Given the description of an element on the screen output the (x, y) to click on. 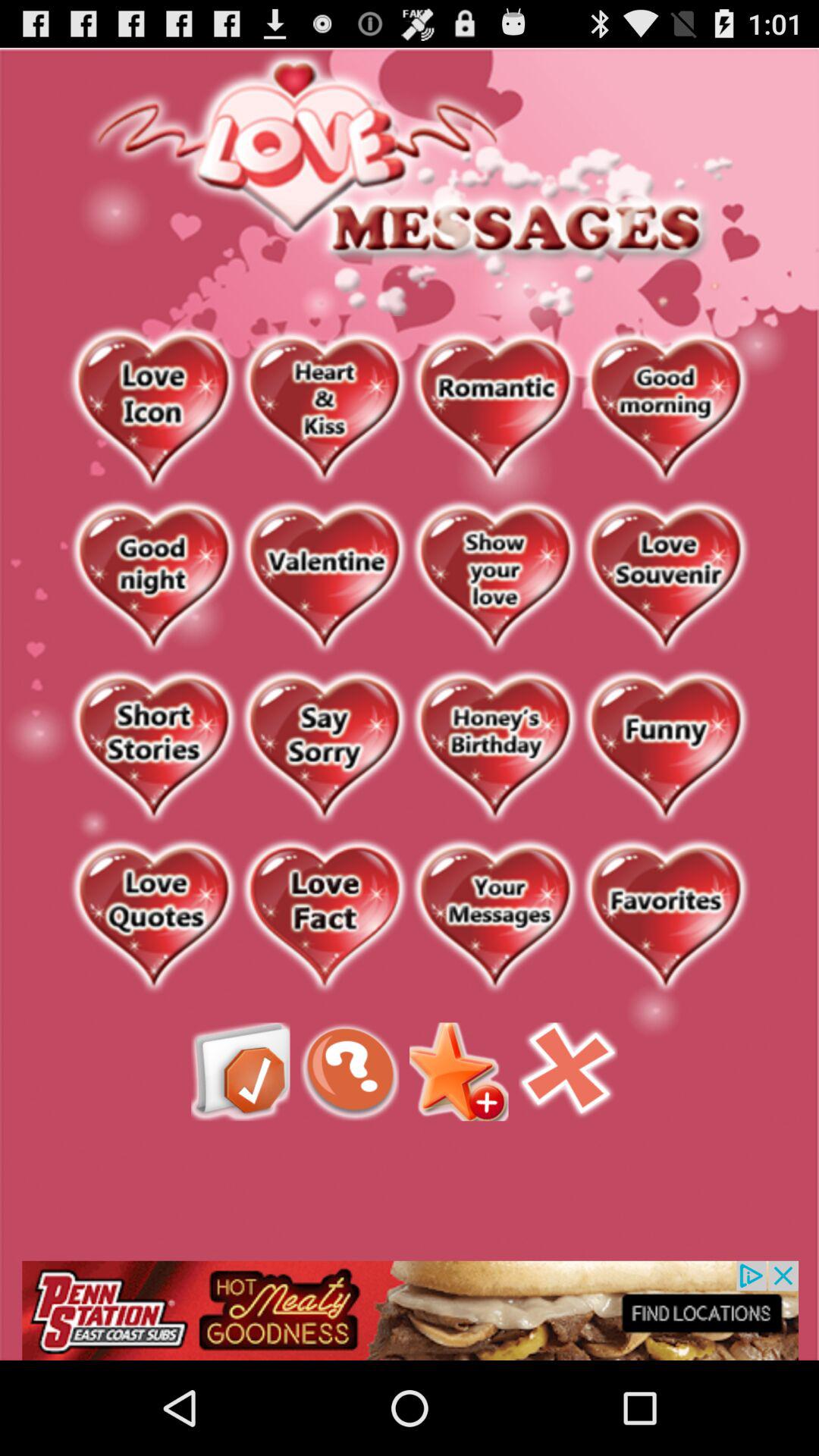
advertisement (323, 917)
